Given the description of an element on the screen output the (x, y) to click on. 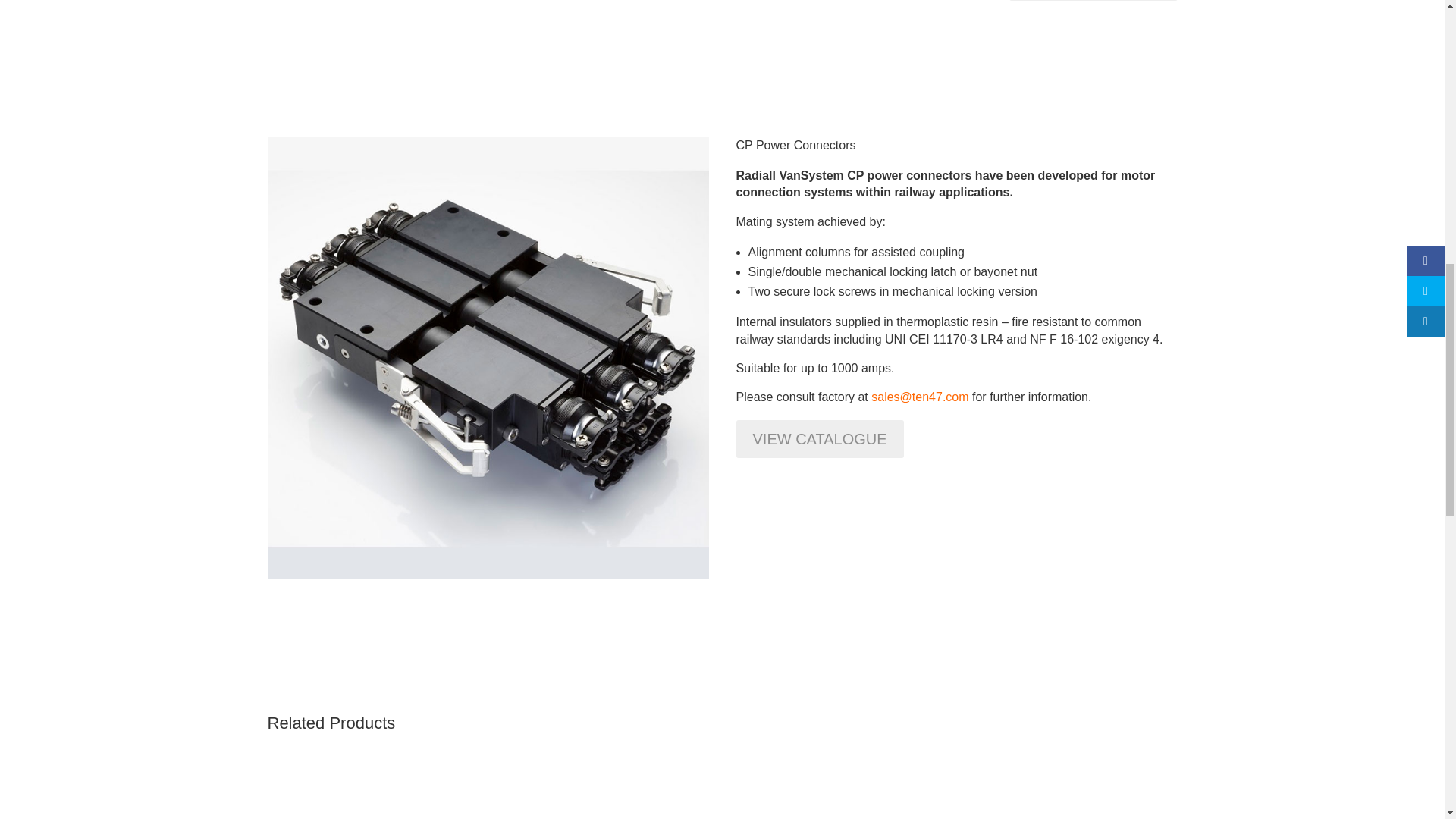
VIEW CATALOGUE (818, 438)
Radial VanSystem CP Power Connectors (486, 574)
